Given the description of an element on the screen output the (x, y) to click on. 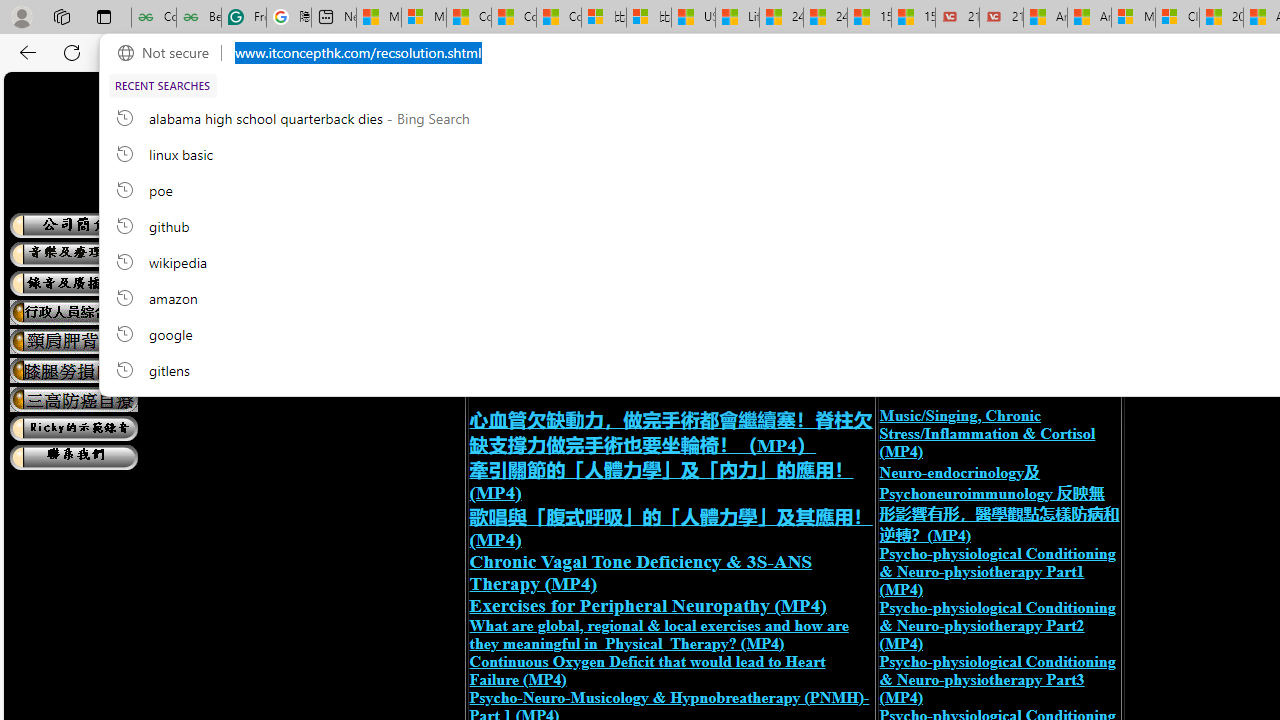
Exercises for Peripheral Neuropathy (MP4) (647, 605)
15 Ways Modern Life Contradicts the Teachings of Jesus (913, 17)
USA TODAY - MSN (693, 17)
Complete Guide to Arrays Data Structure - GeeksforGeeks (153, 17)
